Given the description of an element on the screen output the (x, y) to click on. 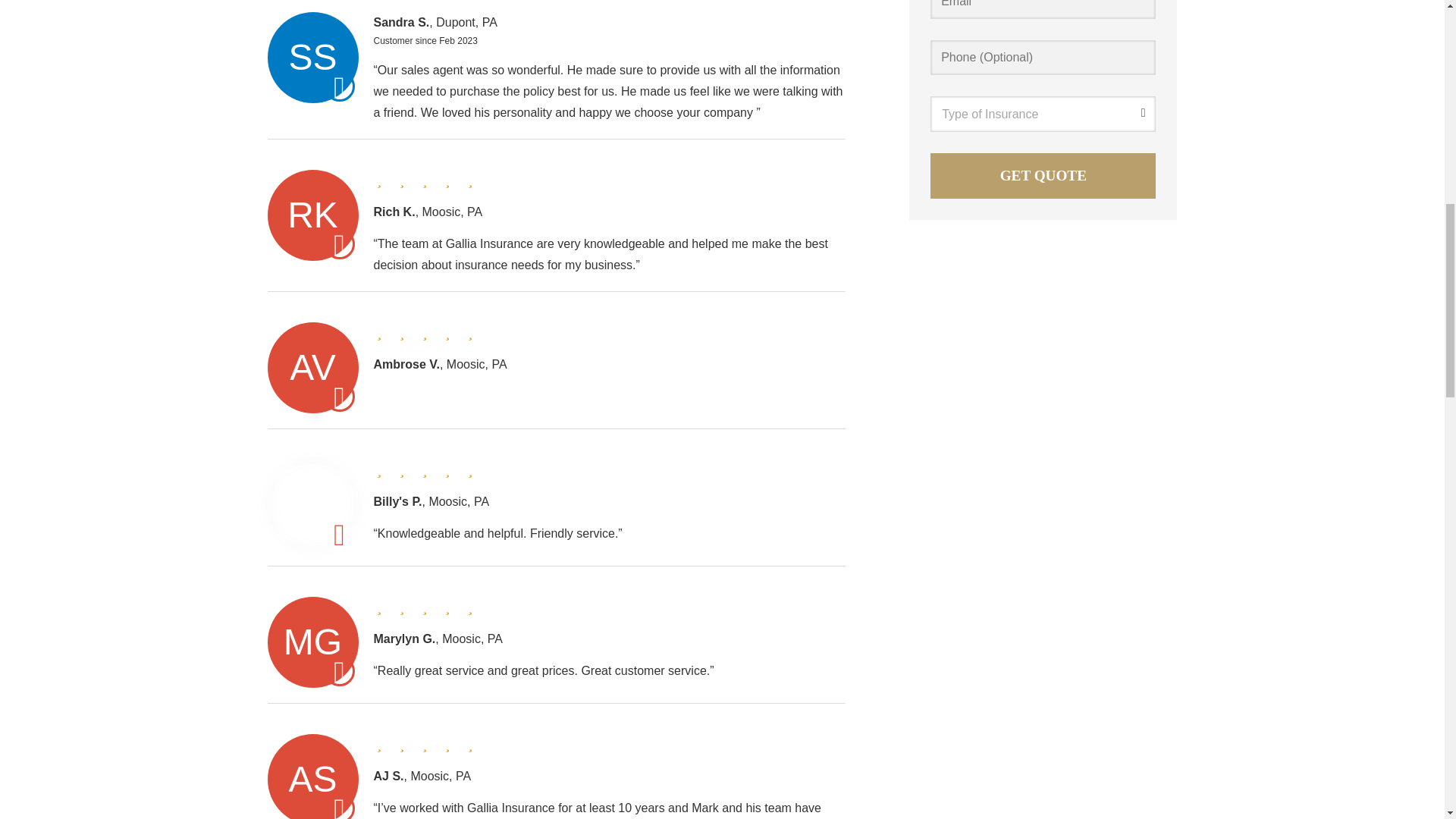
Get Quote (1043, 176)
